Given the description of an element on the screen output the (x, y) to click on. 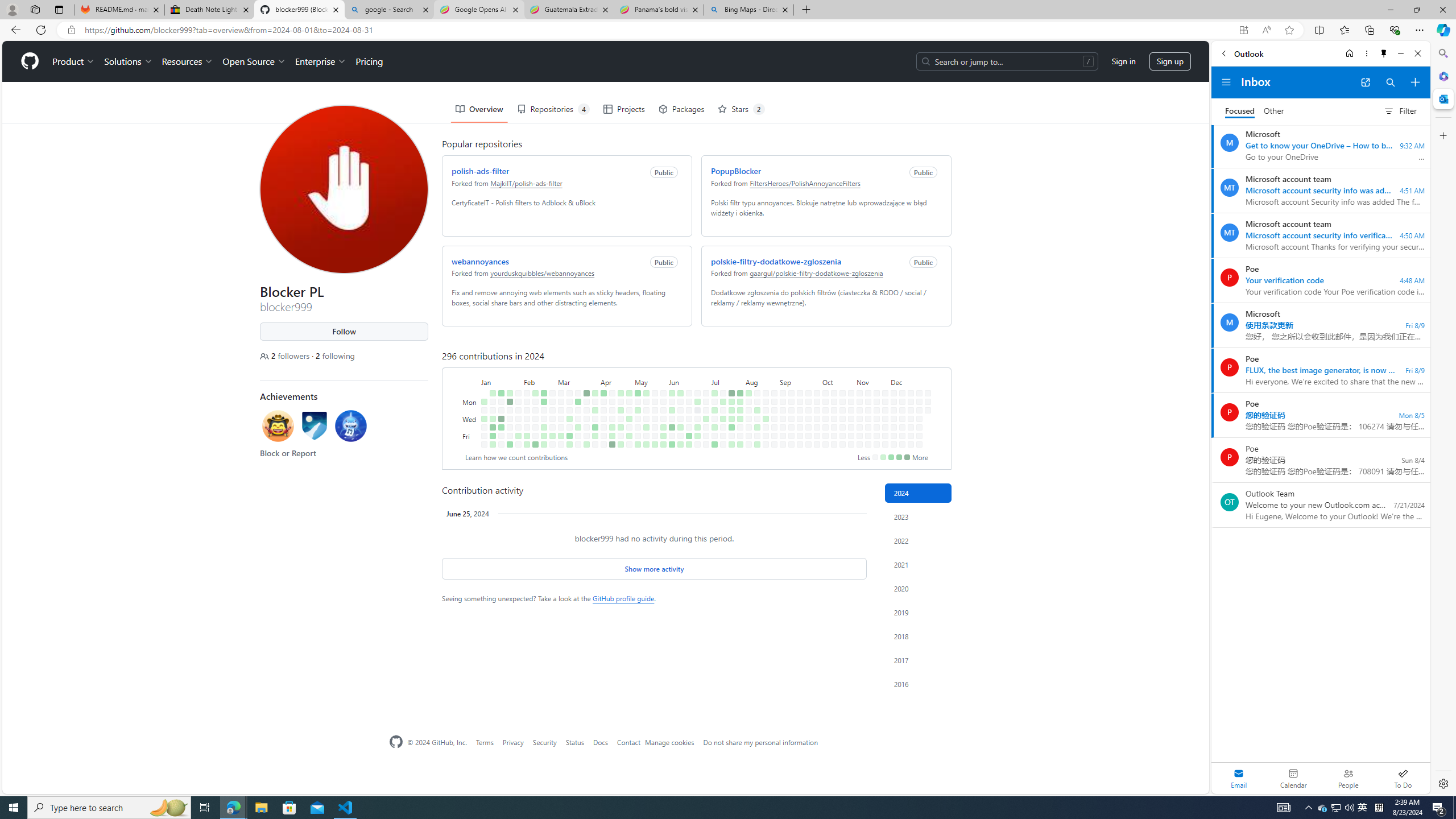
Commentary (667, 69)
More options (1366, 53)
Workspaces (34, 9)
Settings (1442, 783)
Calendar. Date today is 22 (1293, 777)
Banco Santander (497, 773)
Search (1442, 53)
Commentary (667, 69)
Personal Profile (12, 9)
